Given the description of an element on the screen output the (x, y) to click on. 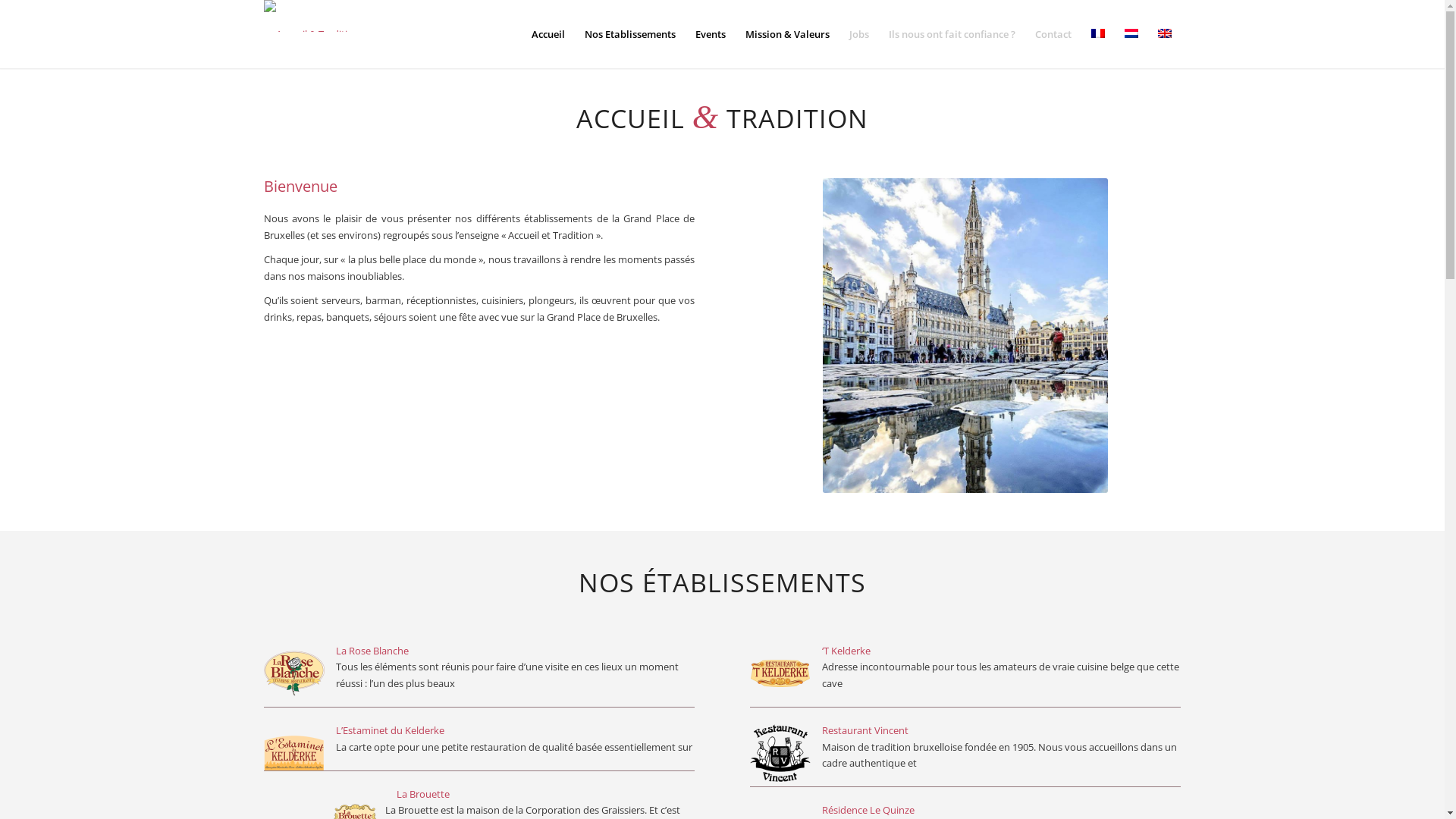
La Brouette Element type: text (421, 793)
Mission & Valeurs Element type: text (787, 34)
Jobs Element type: text (858, 34)
Nos Etablissements Element type: text (629, 34)
English Element type: hover (1163, 32)
Accueil Element type: text (547, 34)
Nederlands Element type: hover (1130, 32)
La Rose Blanche Element type: text (371, 650)
Restaurant Vincent Element type: text (865, 730)
Contact Element type: text (1053, 34)
Accueil-Grand-Place-BXL Element type: hover (964, 335)
Events Element type: text (710, 34)
Ils nous ont fait confiance ? Element type: text (951, 34)
